Given the description of an element on the screen output the (x, y) to click on. 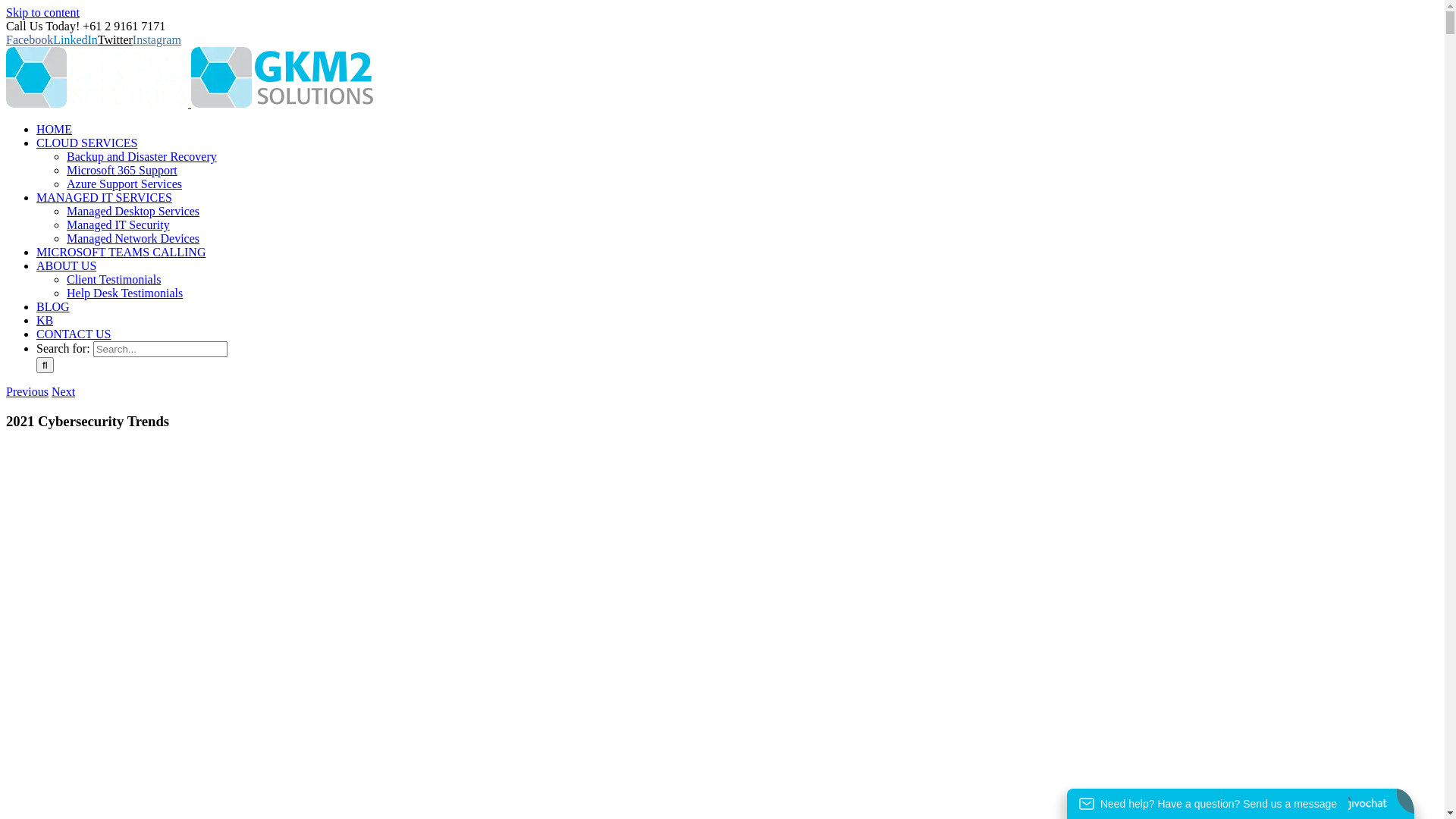
Managed Desktop Services Element type: text (132, 210)
CONTACT US Element type: text (73, 333)
Next Element type: text (63, 391)
Skip to content Element type: text (42, 12)
Azure Support Services Element type: text (124, 183)
Previous Element type: text (27, 391)
ABOUT US Element type: text (66, 265)
Managed IT Security Element type: text (117, 224)
Managed Network Devices Element type: text (132, 238)
Twitter Element type: text (114, 39)
Instagram Element type: text (156, 39)
MICROSOFT TEAMS CALLING Element type: text (120, 251)
KB Element type: text (44, 319)
Microsoft 365 Support Element type: text (121, 169)
Facebook Element type: text (29, 39)
HOME Element type: text (54, 128)
Backup and Disaster Recovery Element type: text (141, 156)
CLOUD SERVICES Element type: text (86, 142)
MANAGED IT SERVICES Element type: text (104, 197)
Client Testimonials Element type: text (113, 279)
Help Desk Testimonials Element type: text (124, 292)
BLOG Element type: text (52, 306)
LinkedIn Element type: text (75, 39)
